Given the description of an element on the screen output the (x, y) to click on. 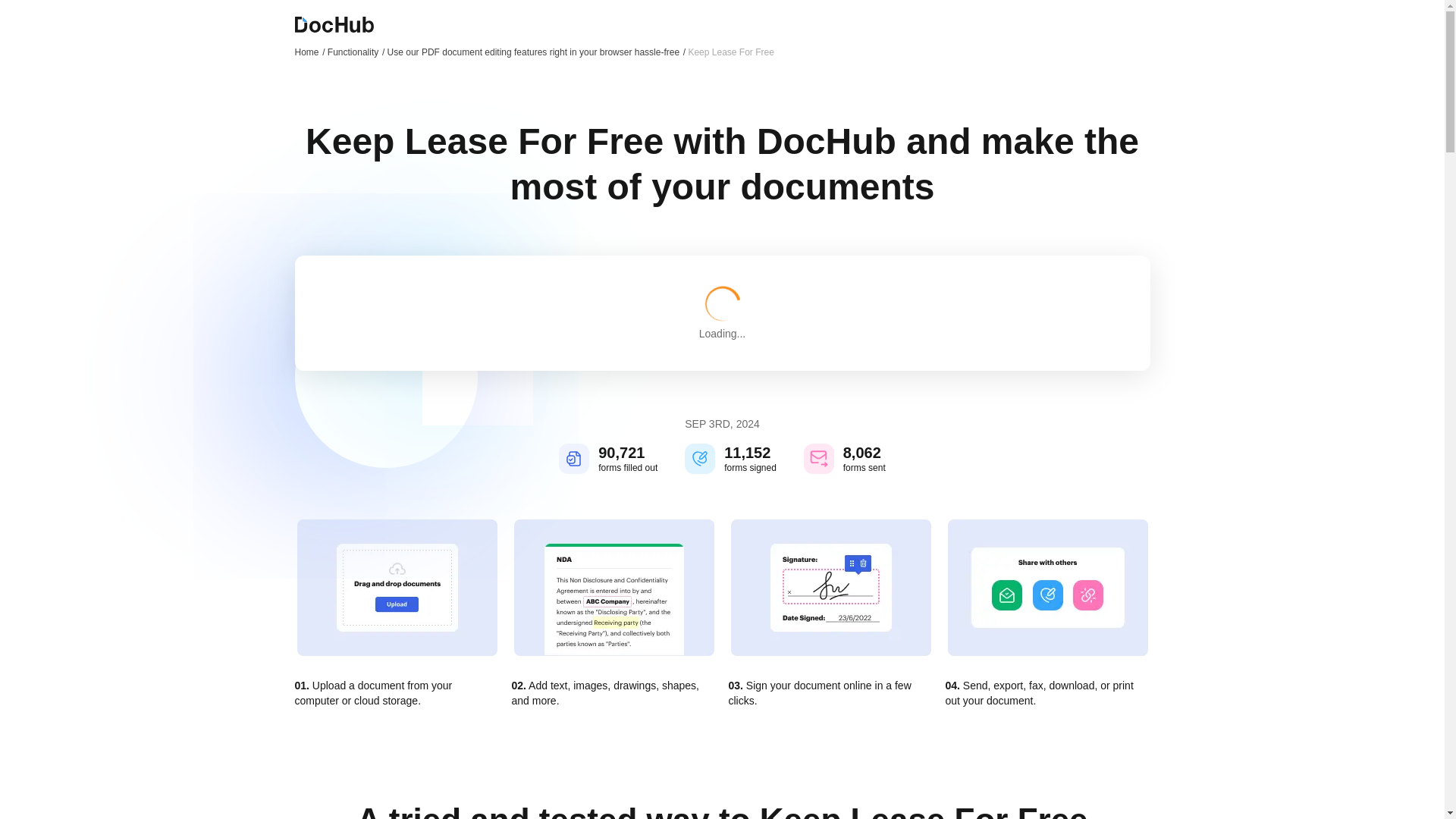
Functionality (355, 51)
Home (309, 51)
